Given the description of an element on the screen output the (x, y) to click on. 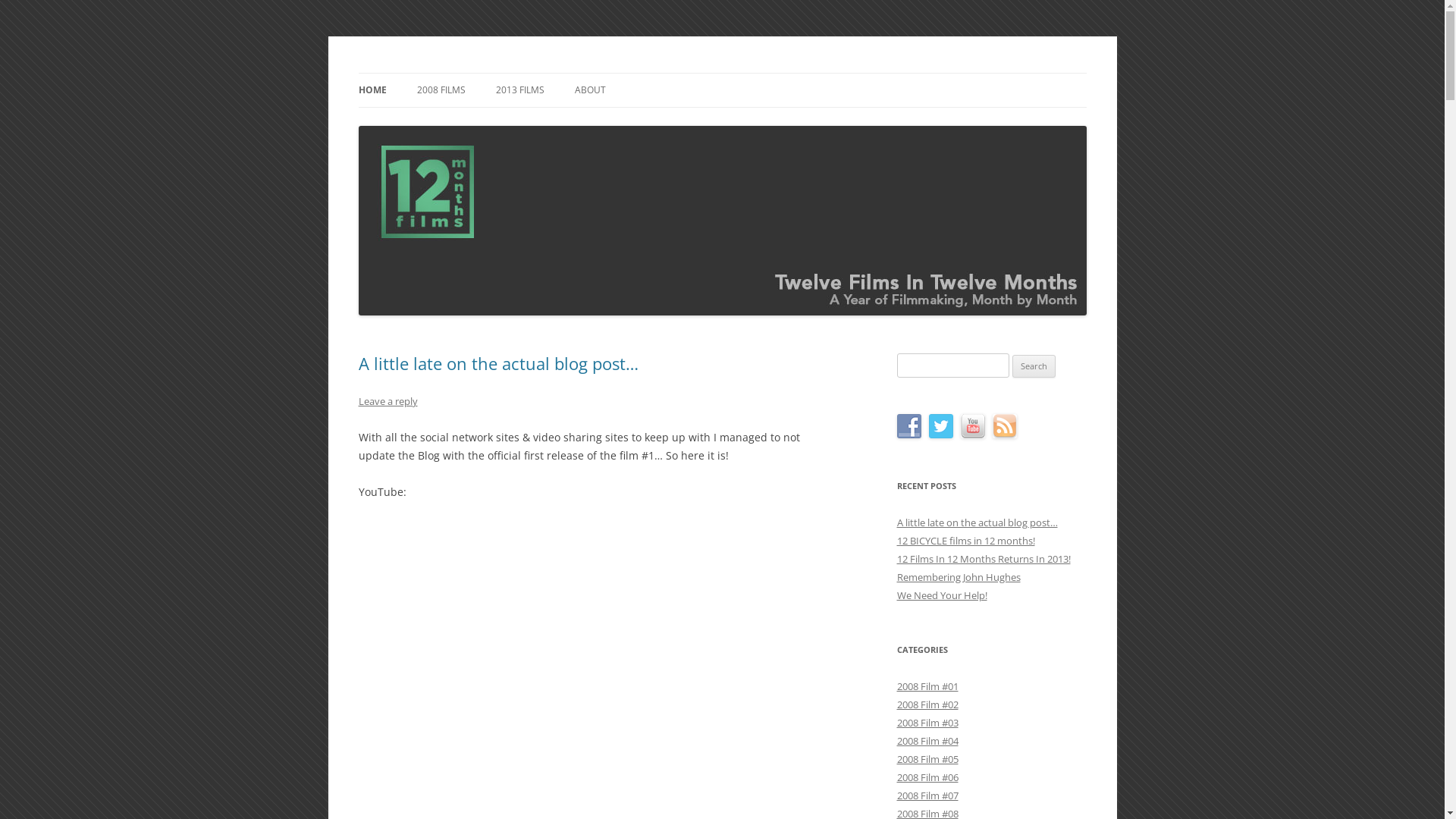
2008 Film #01 Element type: text (926, 686)
2013 FILMS Element type: text (519, 89)
 Twitter Element type: hover (940, 426)
HOME Element type: text (371, 89)
2008 Film #02 Element type: text (926, 704)
2008 Film #07 Element type: text (926, 795)
Leave a reply Element type: text (387, 400)
2008 Film #03 Element type: text (926, 722)
2008 FILMS Element type: text (441, 89)
12 BICYCLE films in 12 months! Element type: text (965, 540)
We Need Your Help! Element type: text (941, 595)
 YouTube Element type: hover (972, 426)
 Facebook Element type: hover (908, 426)
ABOUT Element type: text (589, 89)
2008 Film #05 Element type: text (926, 758)
2008 Film #06 Element type: text (926, 777)
12 Films In 12 Months Element type: text (464, 72)
Remembering John Hughes Element type: text (957, 576)
12 Films In 12 Months Returns In 2013! Element type: text (983, 558)
Search Element type: text (1033, 365)
 RSS Element type: hover (1003, 426)
2008 Film #04 Element type: text (926, 740)
Skip to content Element type: text (721, 72)
